Given the description of an element on the screen output the (x, y) to click on. 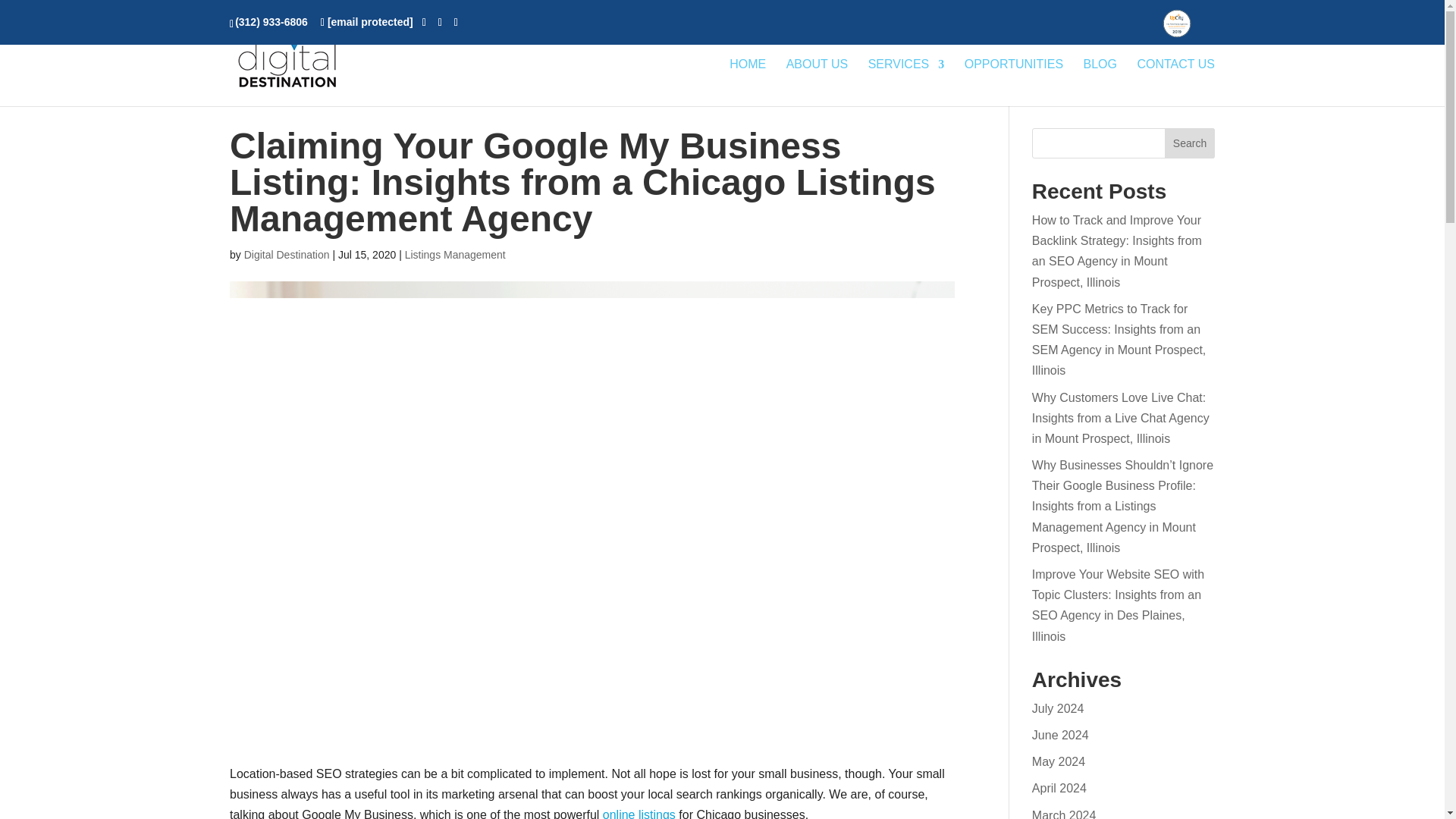
June 2024 (1060, 735)
March 2024 (1064, 813)
April 2024 (1059, 788)
ABOUT US (817, 82)
CONTACT US (1175, 82)
Posts by Digital Destination (287, 254)
SERVICES (905, 82)
July 2024 (1058, 707)
Listings Management (454, 254)
